Given the description of an element on the screen output the (x, y) to click on. 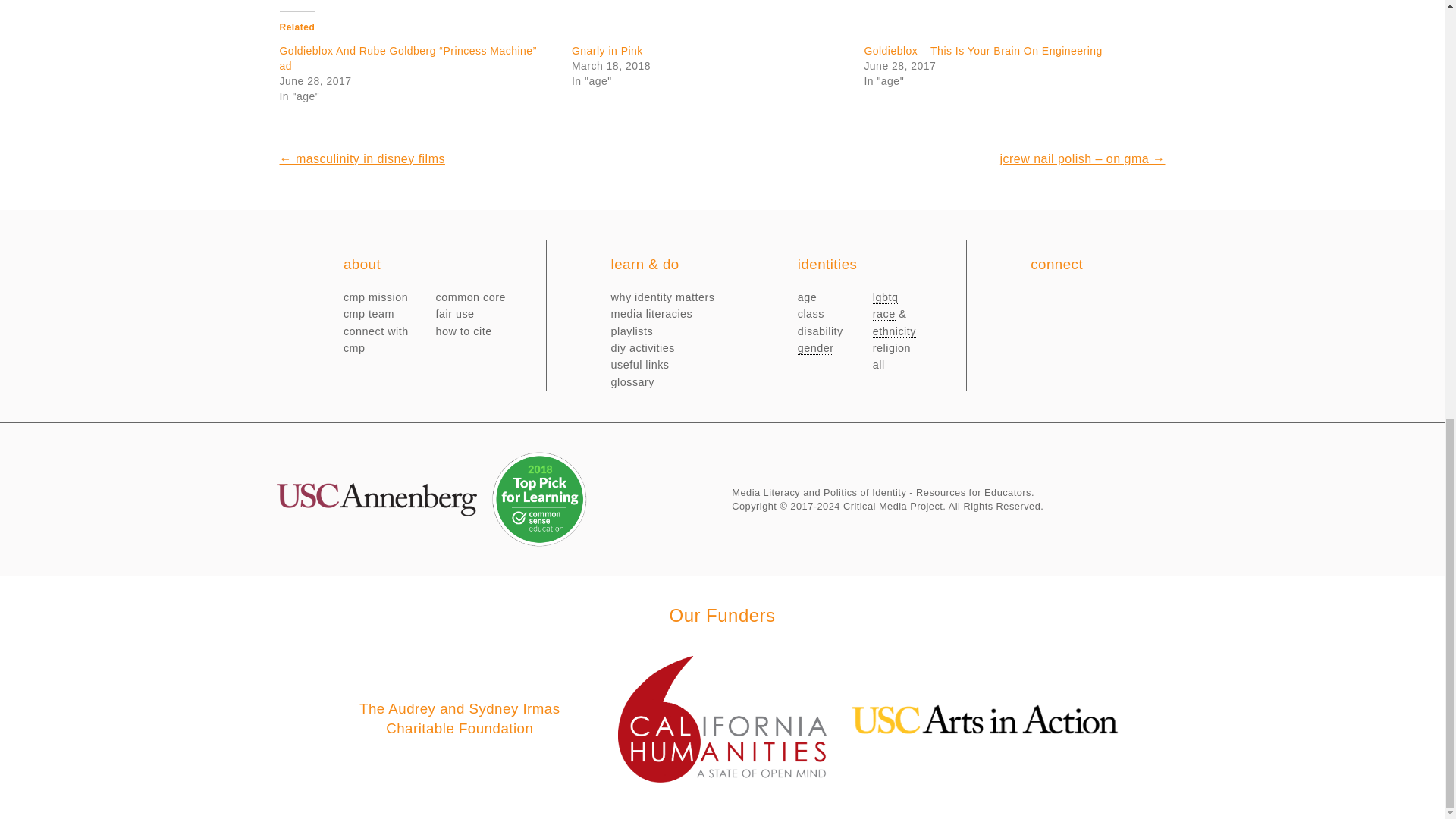
Gnarly in Pink (607, 50)
